Given the description of an element on the screen output the (x, y) to click on. 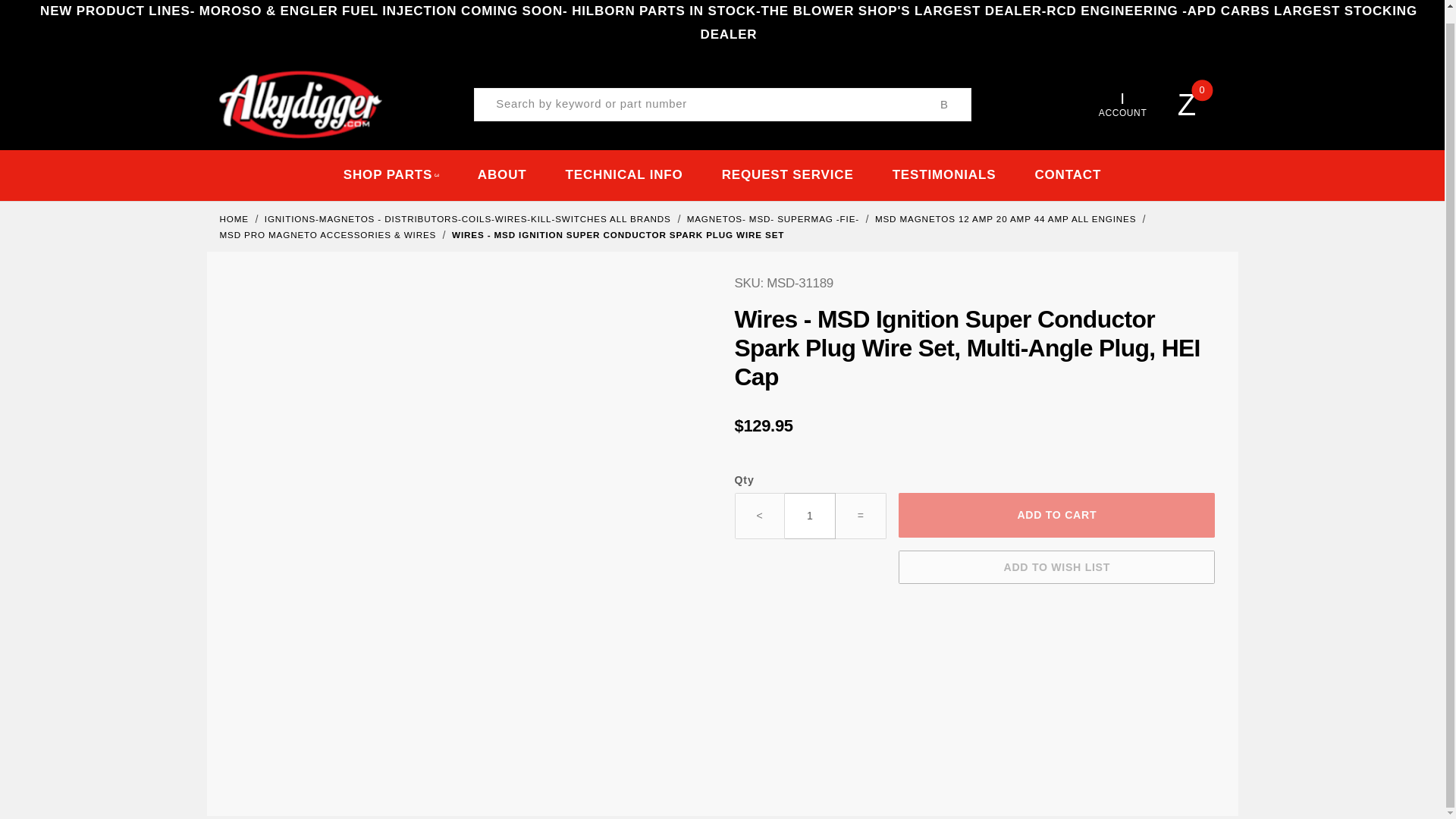
ACCOUNT (1122, 104)
Wires - MSD Ignition Super Conductor Spark Plug Wire Set (617, 234)
0 (1198, 105)
MSD  MAGNETOS 12 AMP 20 AMP 44 AMP  ALL ENGINES (1007, 218)
Alkydigger Fuel Injection-Superchargers-Ignitions (299, 103)
SHOP PARTS (390, 175)
1 (809, 515)
CONTACT (1067, 175)
Add To Cart (1056, 515)
Sign In (1092, 288)
Add to Wish List (1056, 566)
Home (235, 218)
TECHNICAL INFO (623, 175)
REQUEST SERVICE (786, 175)
